Given the description of an element on the screen output the (x, y) to click on. 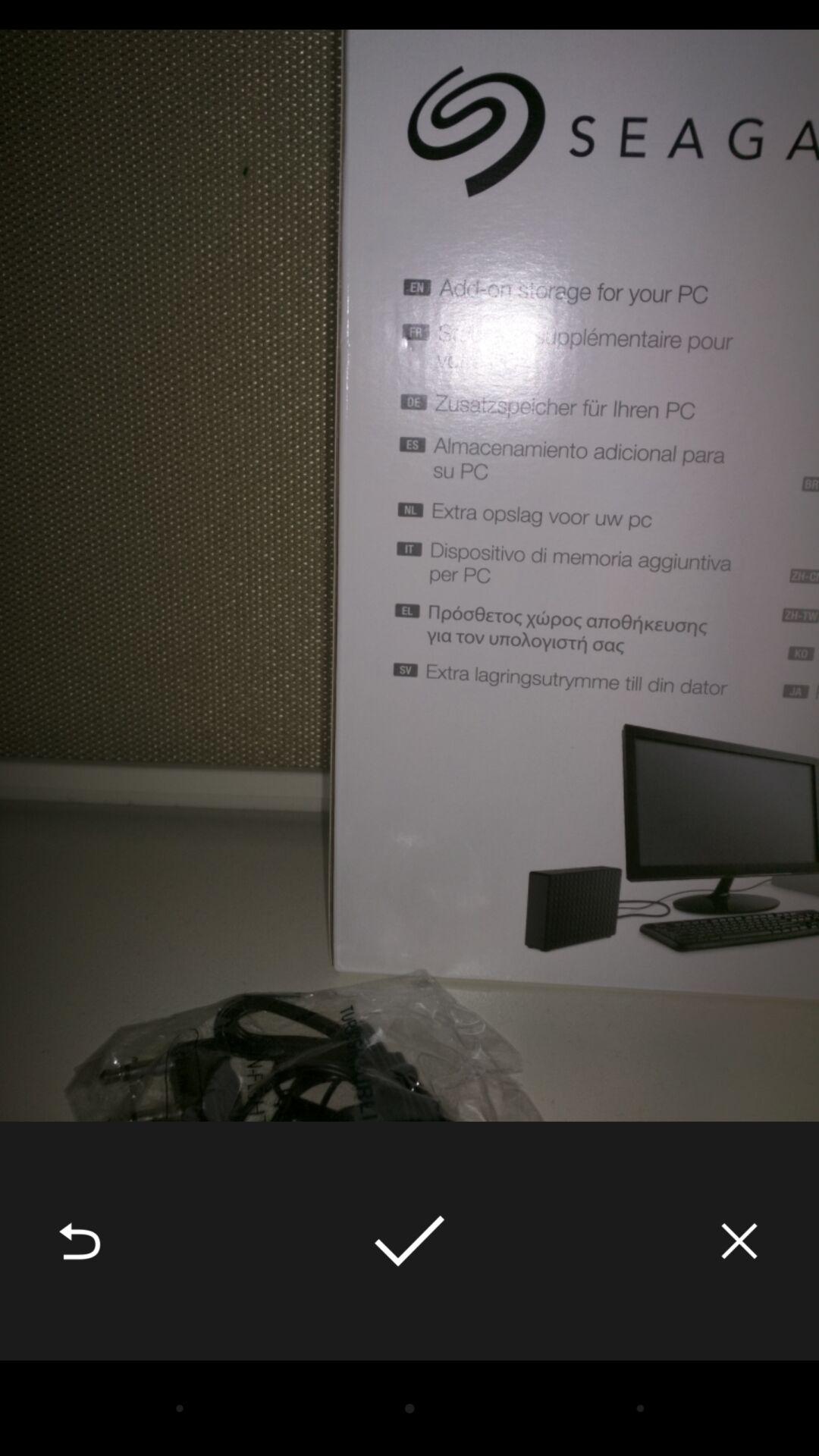
press the icon at the bottom left corner (79, 1240)
